Given the description of an element on the screen output the (x, y) to click on. 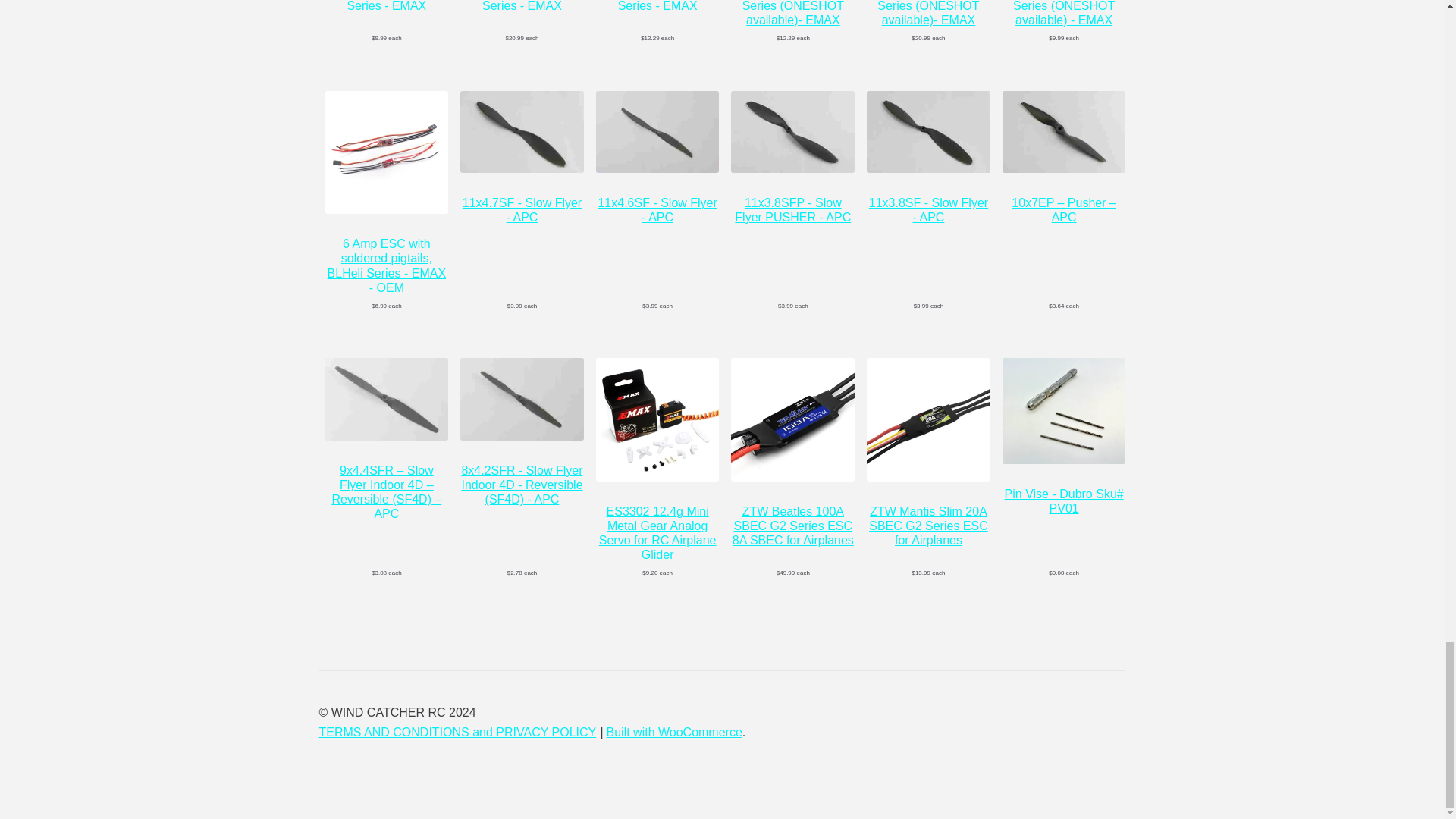
WooCommerce - The Best eCommerce Platform for WordPress (674, 731)
